Given the description of an element on the screen output the (x, y) to click on. 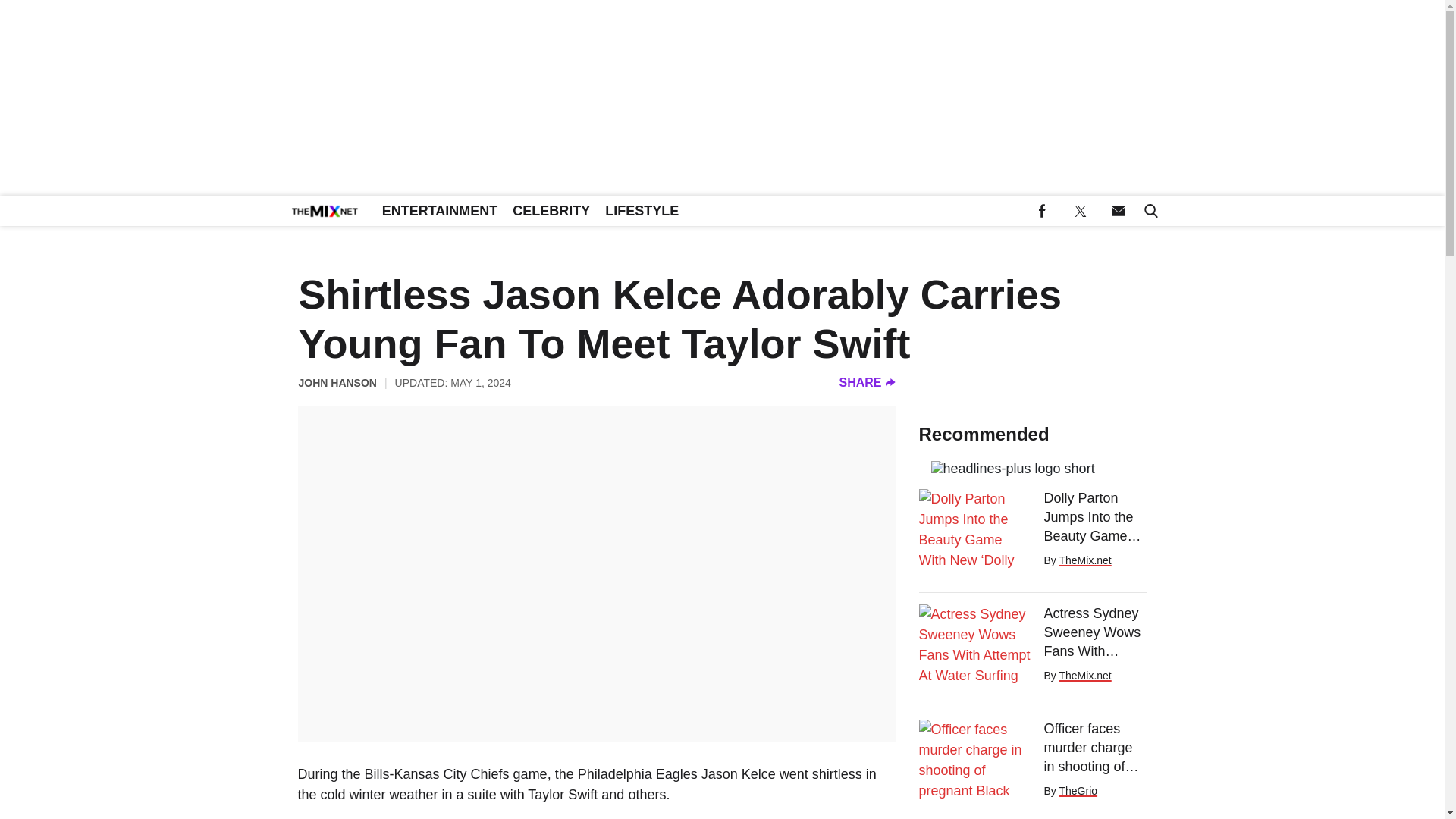
Send us an email (1118, 210)
TheMix.net (1084, 560)
Follow us on Twitter (1080, 210)
Posts by John Hanson (337, 382)
TheMix.net (1084, 675)
JOHN HANSON (337, 382)
Follow us on Facebook (1042, 210)
ENTERTAINMENT (439, 210)
LIFESTYLE (640, 210)
